Given the description of an element on the screen output the (x, y) to click on. 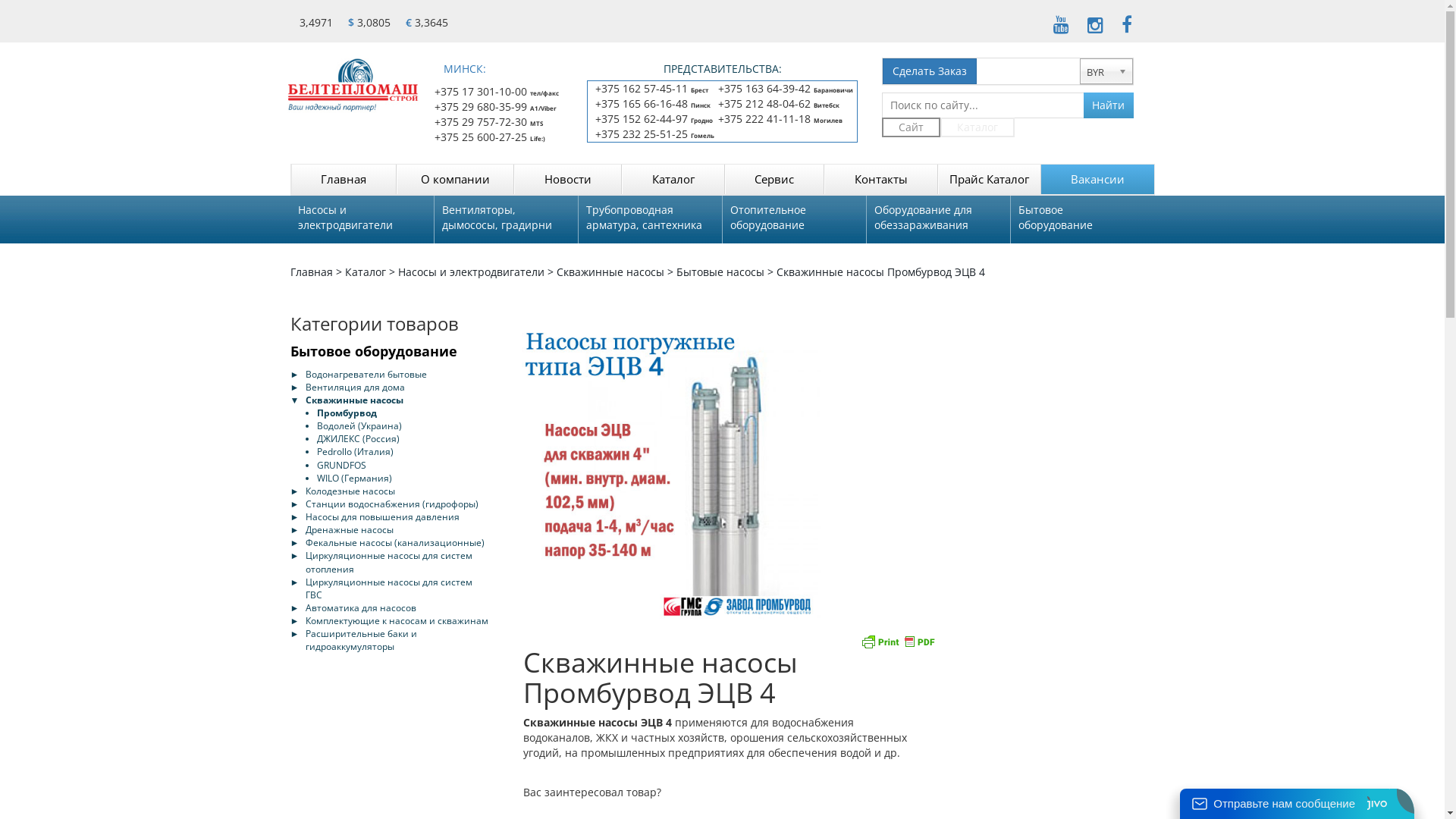
Printer Friendly, PDF & Email Element type: hover (897, 640)
BYR Element type: text (1105, 71)
GRUNDFOS Element type: text (341, 464)
